Given the description of an element on the screen output the (x, y) to click on. 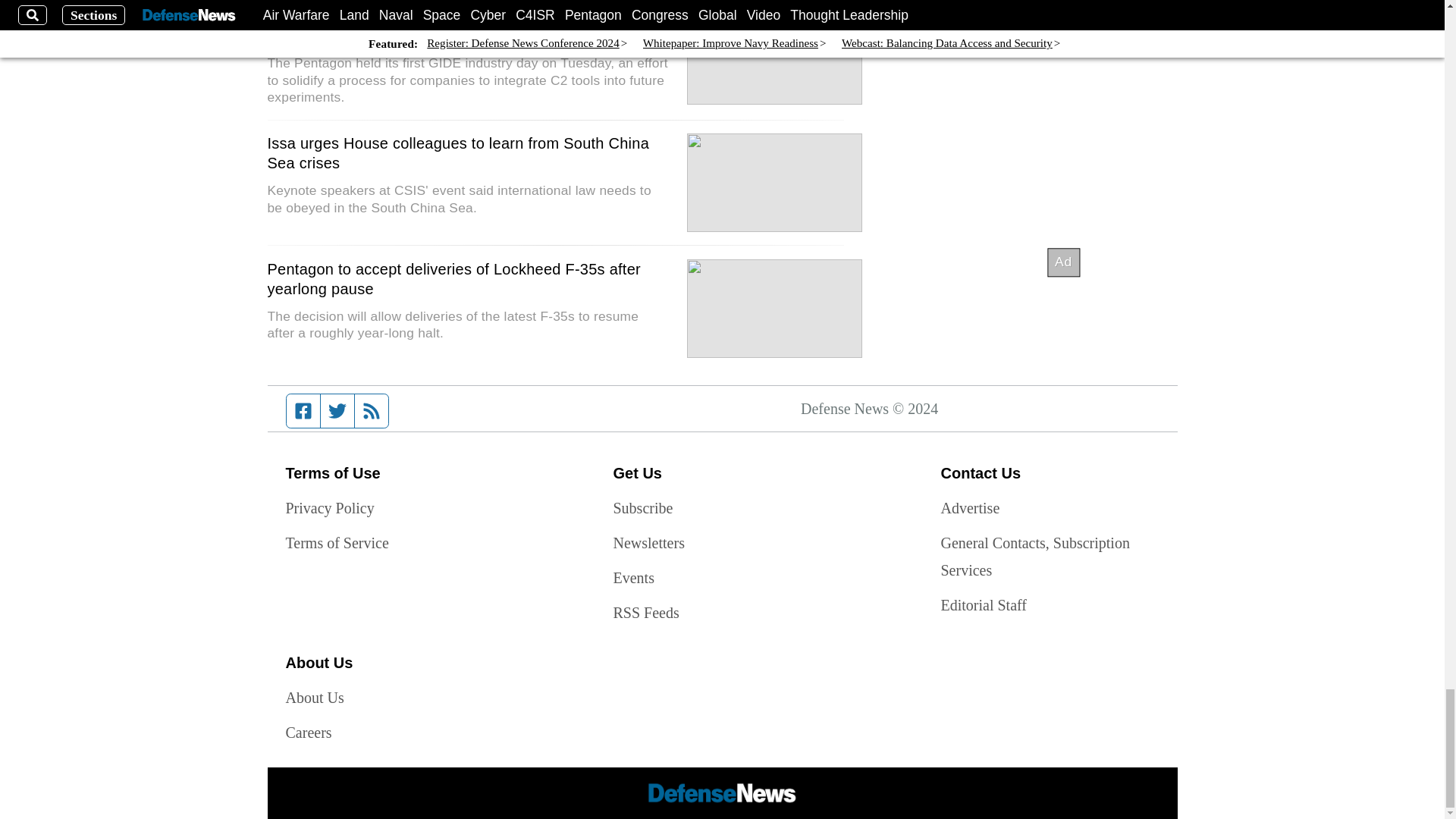
RSS feed (371, 410)
Twitter feed (336, 410)
Facebook page (303, 410)
